Given the description of an element on the screen output the (x, y) to click on. 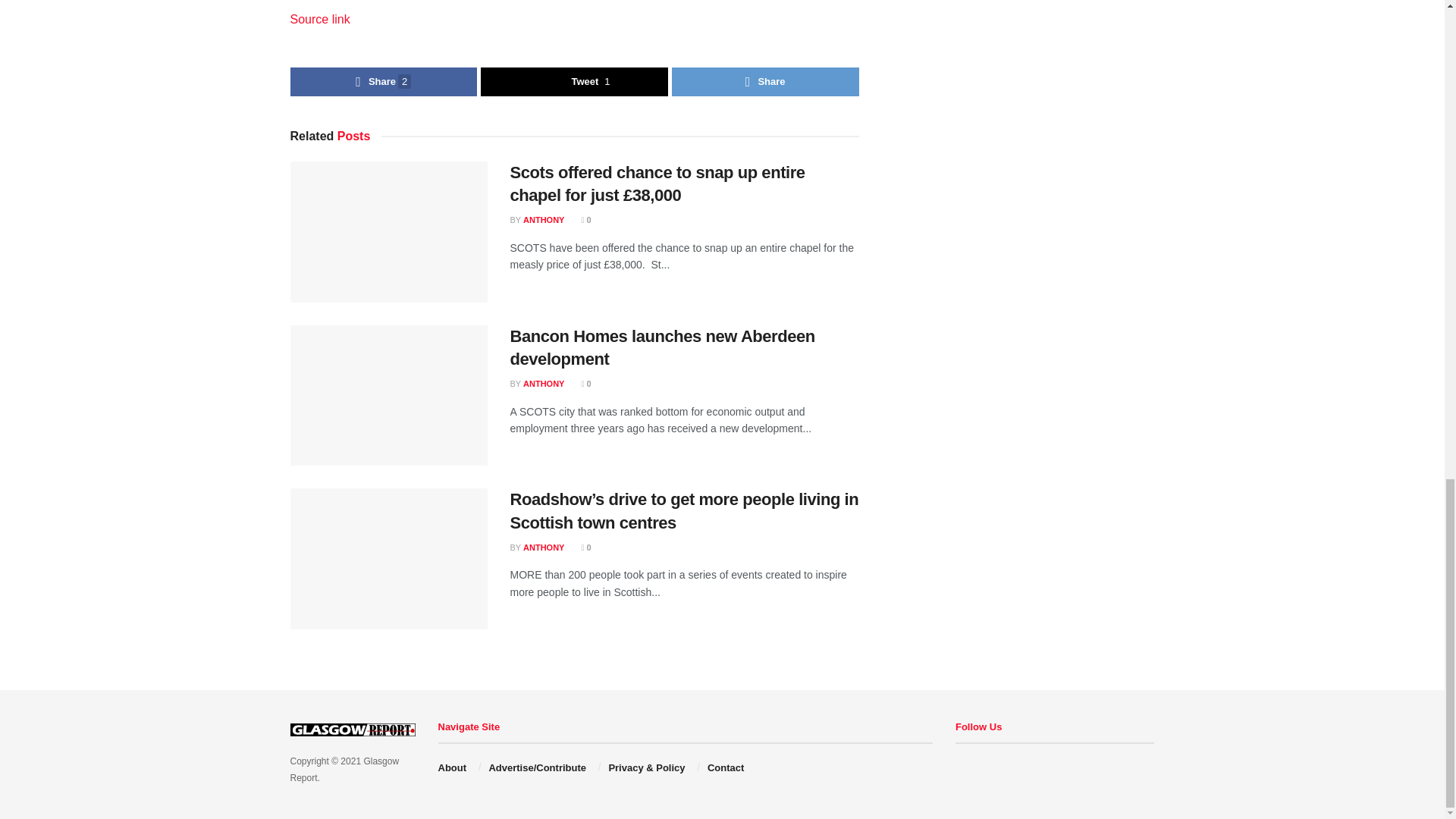
Share (765, 81)
Tweet1 (574, 81)
Source link (319, 19)
Share2 (383, 81)
